Given the description of an element on the screen output the (x, y) to click on. 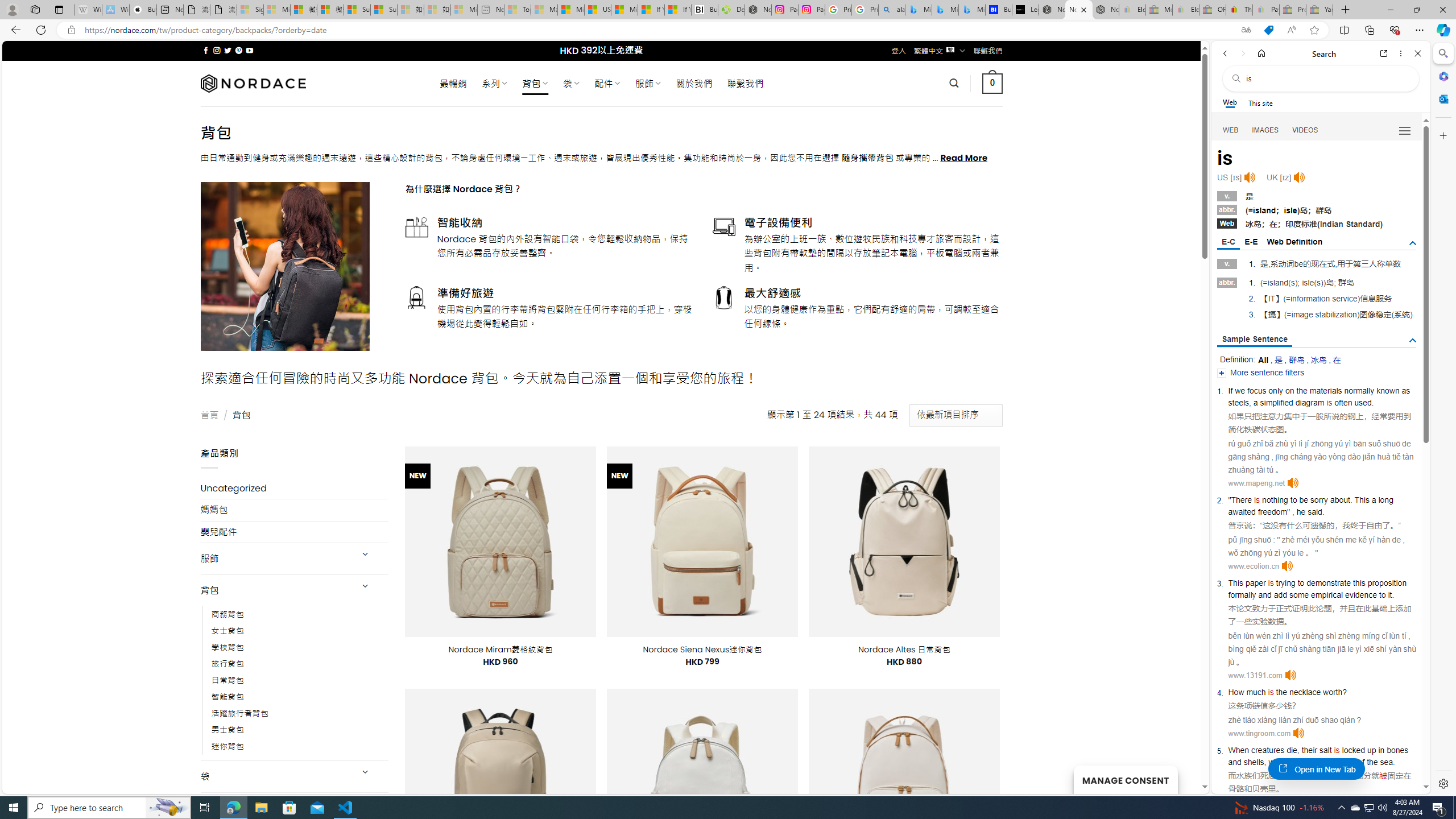
www.tingroom.com (1259, 732)
a (1373, 499)
E-E (1251, 241)
nothing (1274, 499)
If (1230, 390)
often (1342, 402)
of (1360, 761)
